Given the description of an element on the screen output the (x, y) to click on. 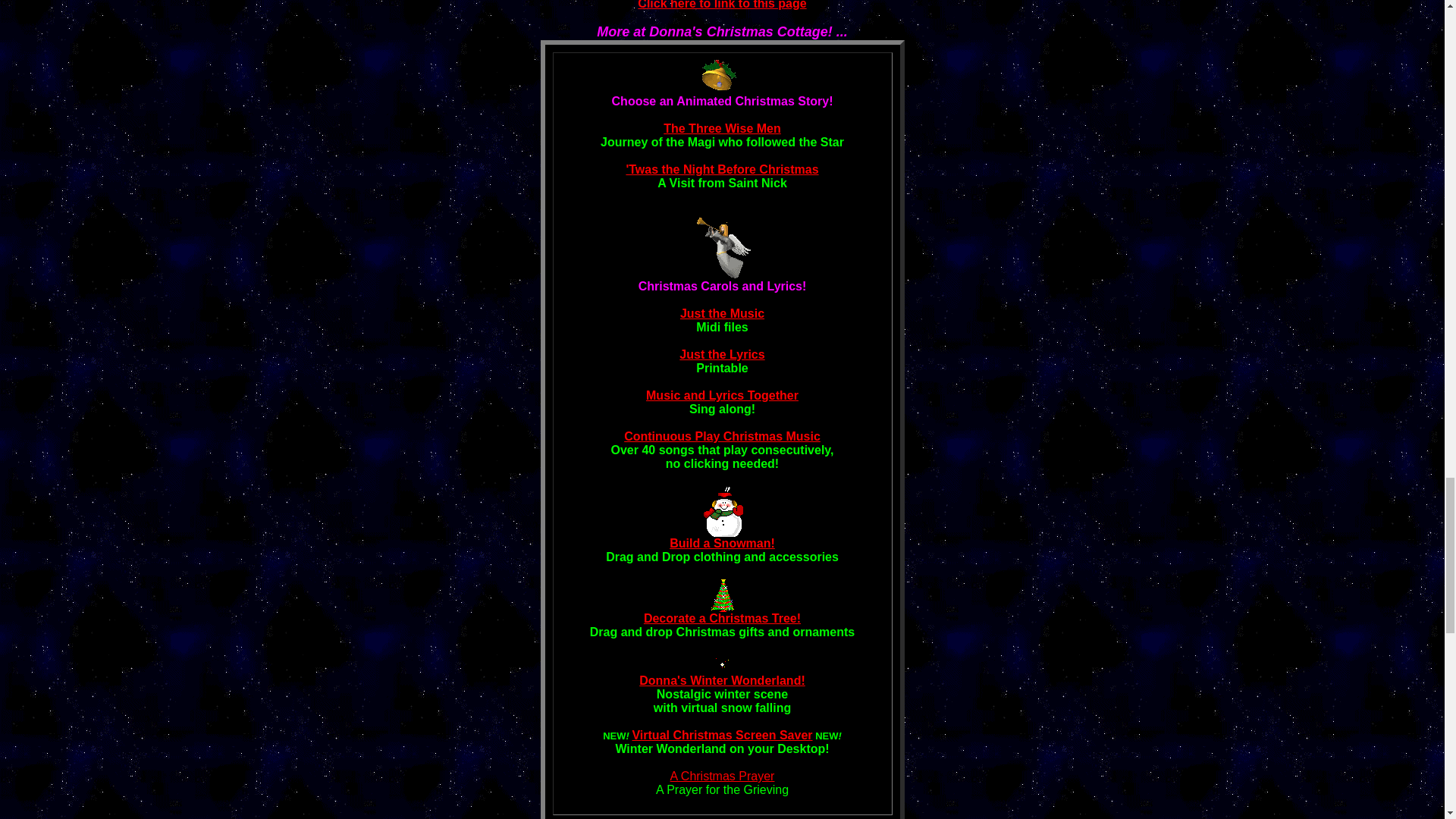
Continuous Play Christmas Music (722, 436)
Build a Snowman! (721, 543)
Just the Lyrics (721, 354)
A Christmas Prayer (721, 775)
Just the Music (721, 313)
Music and Lyrics Together (721, 395)
Decorate a Christmas Tree! (721, 617)
Click here to link to this page (721, 4)
Virtual Christmas Screen Saver (721, 735)
Donna's Winter Wonderland! (722, 680)
The Three Wise Men (721, 128)
'Twas the Night Before Christmas (722, 169)
